Given the description of an element on the screen output the (x, y) to click on. 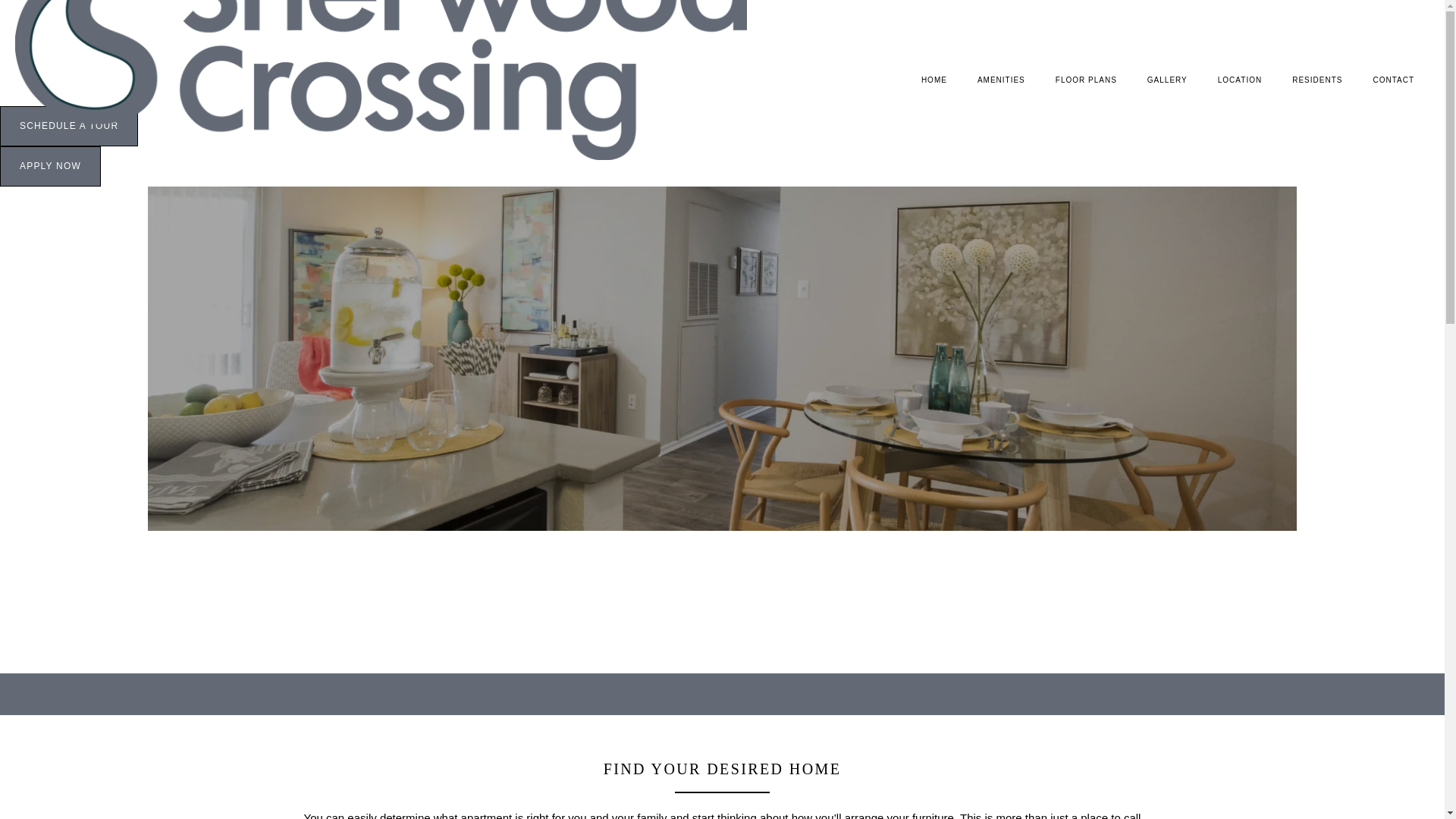
AMENITIES (1001, 79)
SCHEDULE A TOUR (69, 126)
GALLERY (1167, 79)
RESIDENTS (1316, 79)
CONTACT (1392, 79)
LOCATION (1239, 79)
FLOOR PLANS (1086, 79)
APPLY NOW (50, 166)
HOME (933, 79)
